Given the description of an element on the screen output the (x, y) to click on. 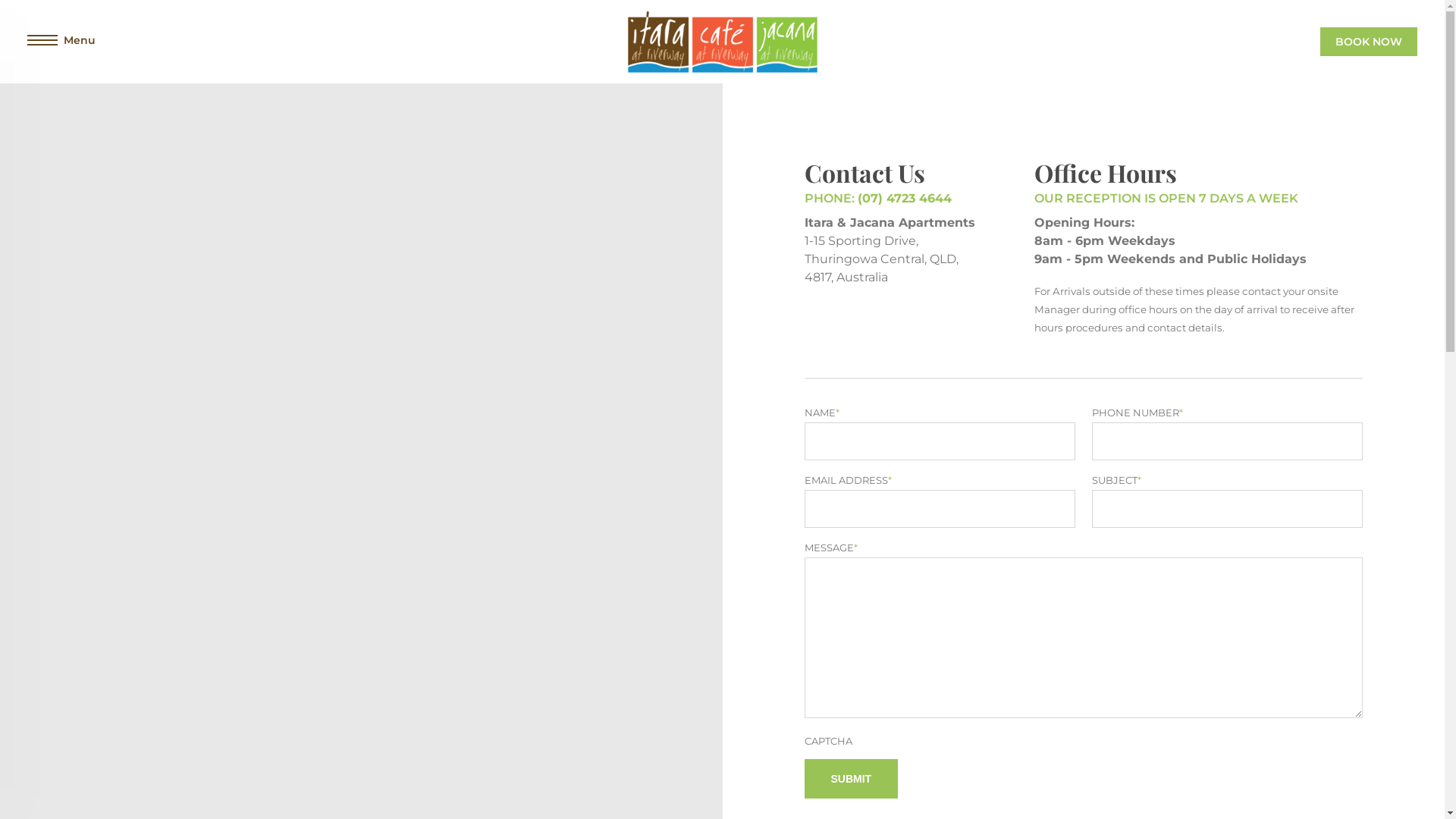
BOOK NOW Element type: text (1368, 41)
Submit Element type: text (850, 778)
(07) 4723 4644 Element type: text (903, 198)
